Given the description of an element on the screen output the (x, y) to click on. 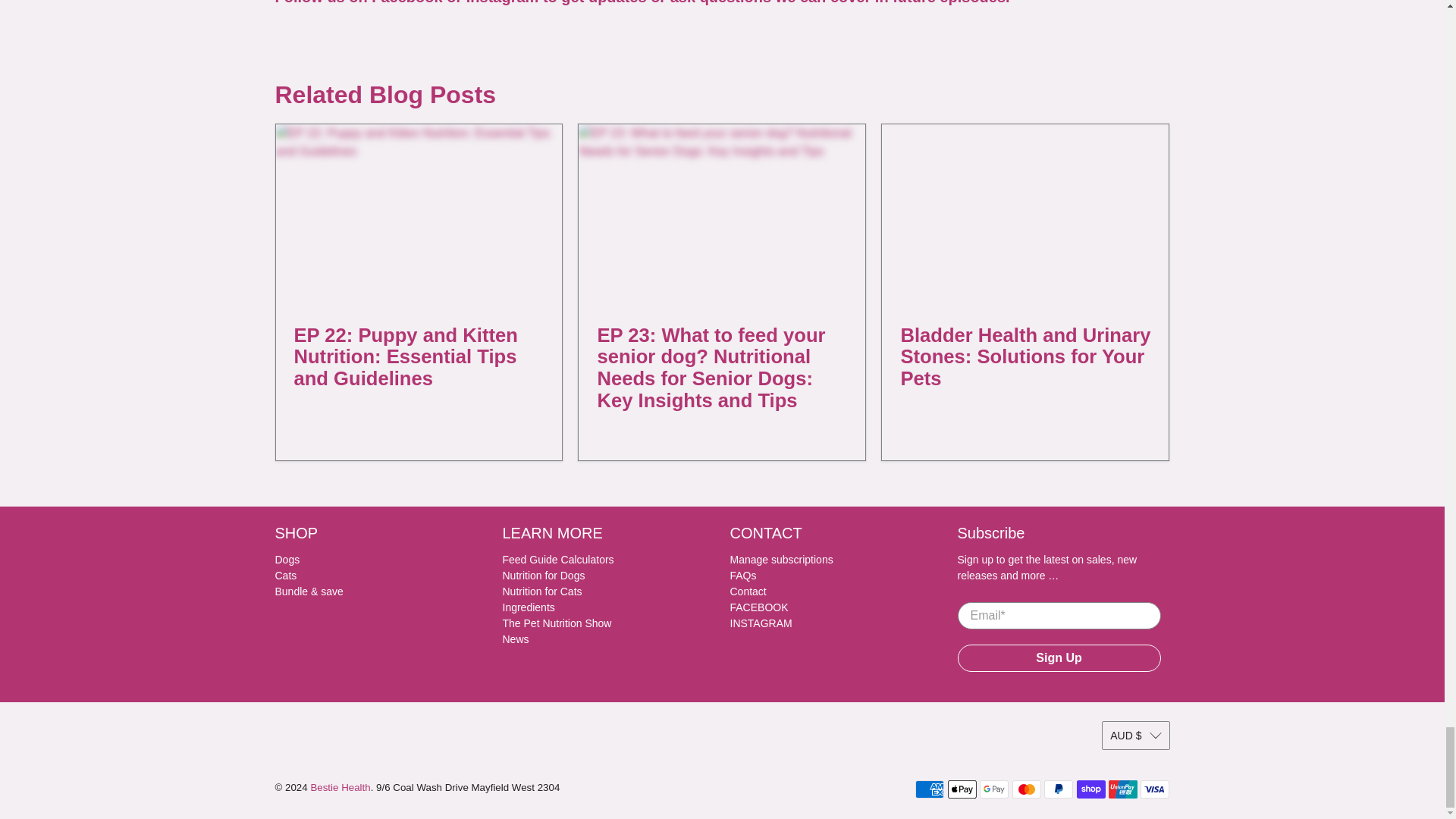
Mastercard (1026, 789)
Union Pay (1122, 789)
American Express (929, 789)
Apple Pay (961, 789)
Visa (1154, 789)
PayPal (1058, 789)
Google Pay (994, 789)
Shop Pay (1091, 789)
